Given the description of an element on the screen output the (x, y) to click on. 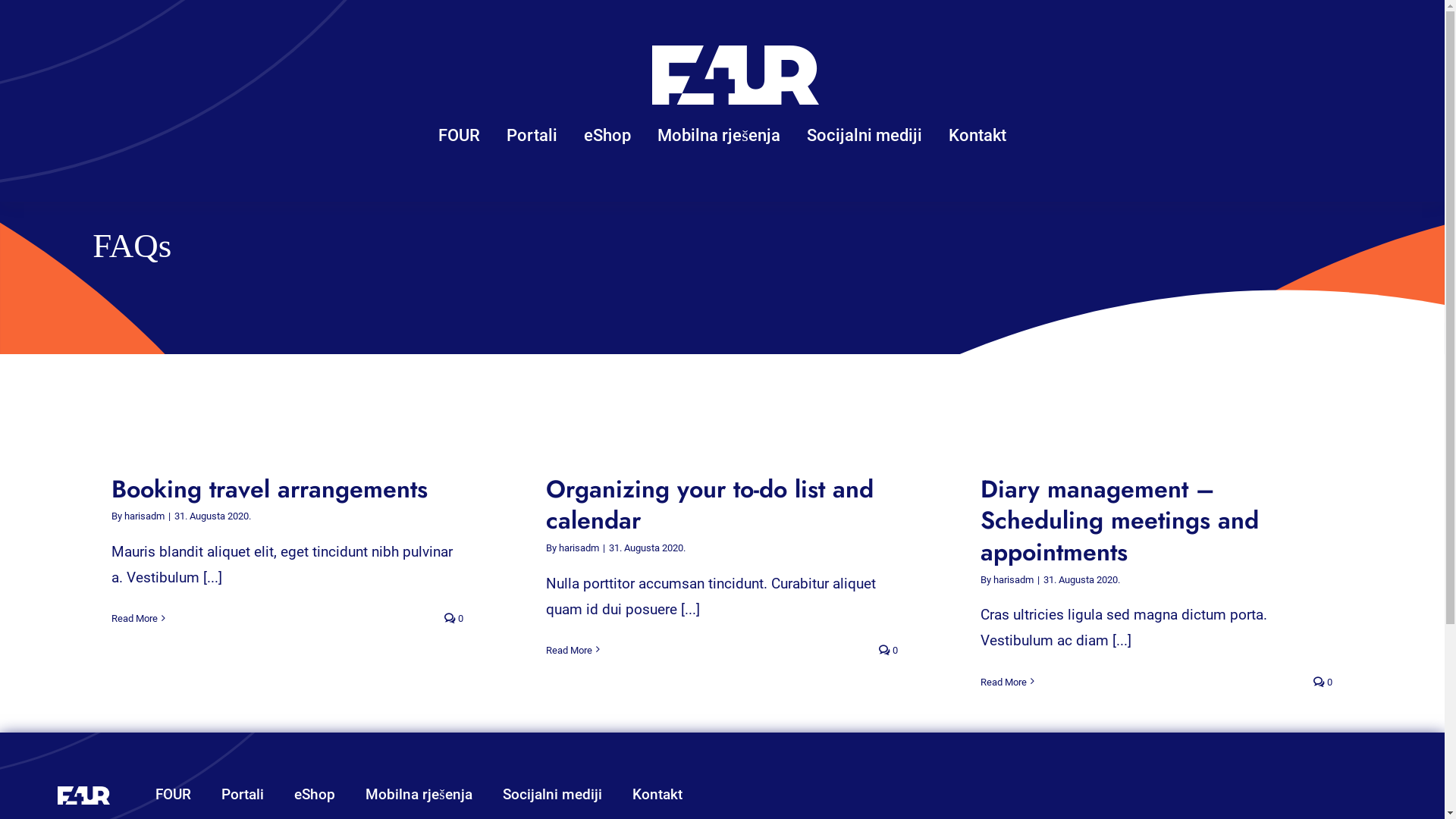
Kontakt Element type: text (977, 136)
Read More Element type: text (1003, 681)
Read More Element type: text (569, 649)
FOUR Element type: text (459, 136)
Kontakt Element type: text (657, 795)
Socijalni mediji Element type: text (864, 136)
Socijalni mediji Element type: text (552, 795)
Organizing your to-do list and calendar Element type: text (709, 504)
 0 Element type: text (887, 649)
Read More Element type: text (134, 618)
eShop Element type: text (606, 136)
 0 Element type: text (1322, 681)
harisadm Element type: text (1013, 579)
Booking travel arrangements Element type: text (269, 488)
FOUR Element type: text (173, 795)
harisadm Element type: text (144, 515)
harisadm Element type: text (578, 547)
eShop Element type: text (314, 795)
Portali Element type: text (242, 795)
Portali Element type: text (531, 136)
 0 Element type: text (453, 618)
